Given the description of an element on the screen output the (x, y) to click on. 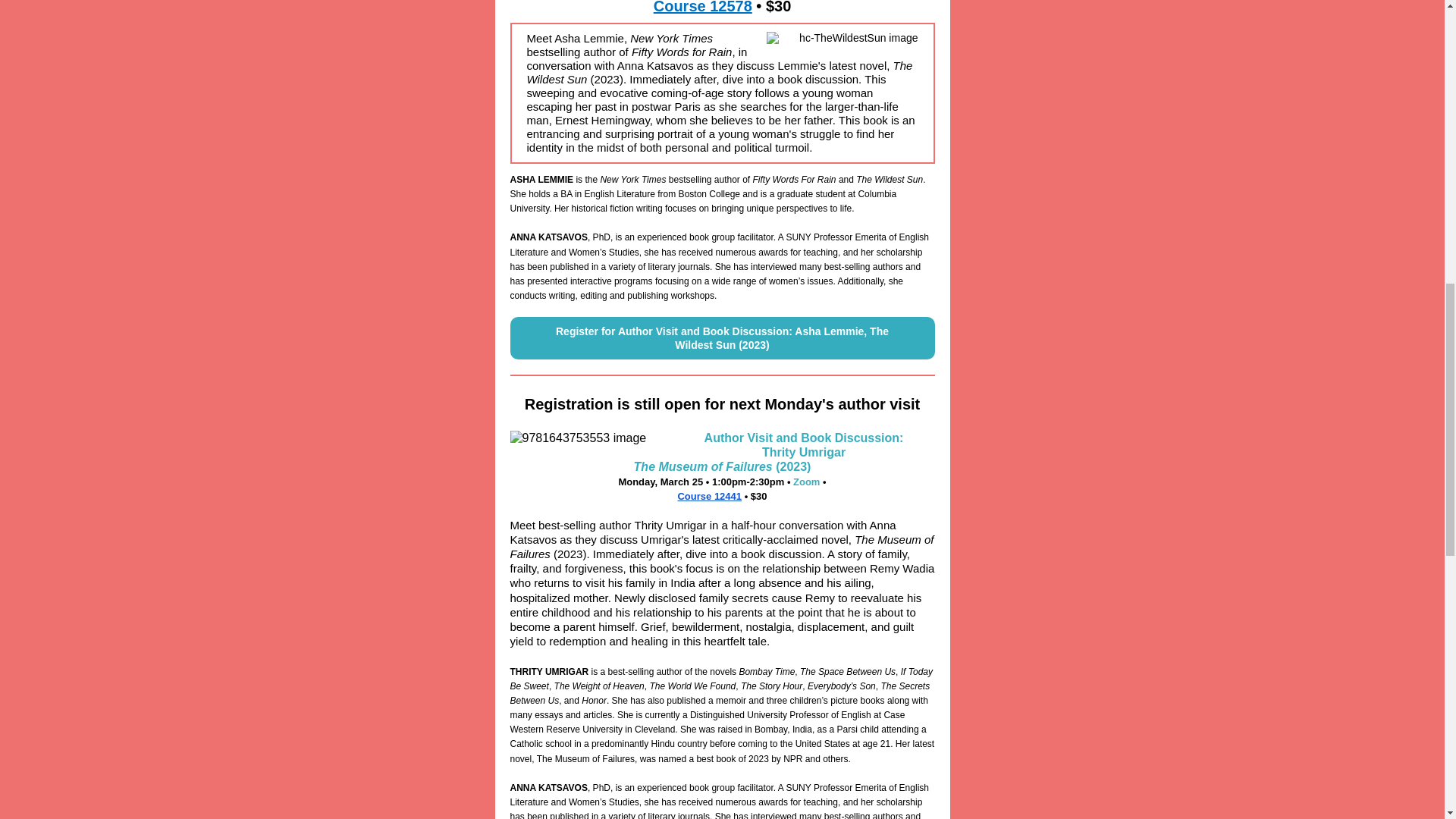
Course 12578 (702, 7)
Course 12441 (709, 496)
